Given the description of an element on the screen output the (x, y) to click on. 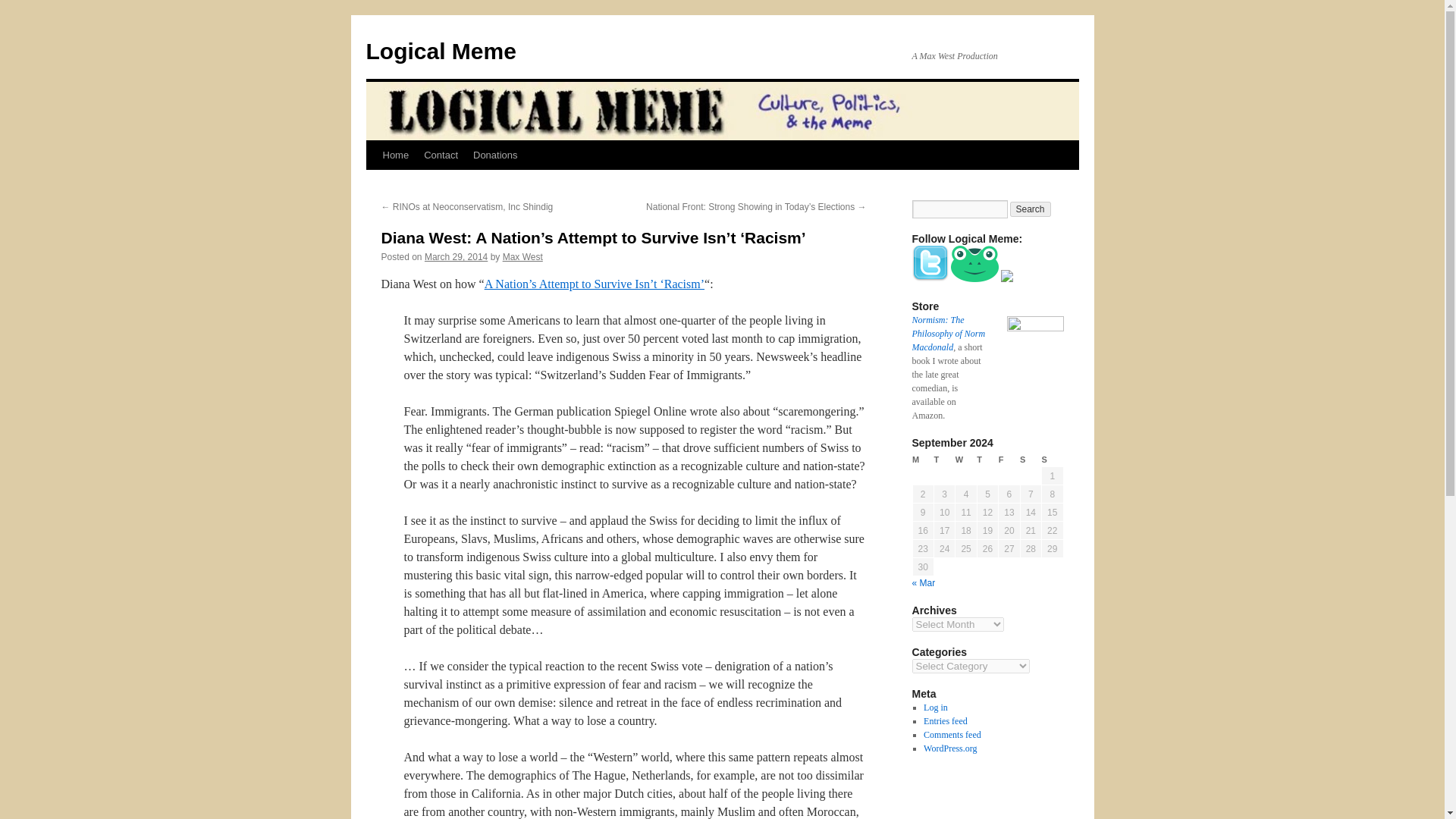
Monday (922, 459)
Home (395, 154)
Entries feed (945, 720)
View all posts by Max West (522, 256)
Contact (440, 154)
Friday (1009, 459)
Normism: The Philosophy of Norm Macdonald (948, 333)
March 29, 2014 (456, 256)
Sunday (1052, 459)
Saturday (1030, 459)
